Given the description of an element on the screen output the (x, y) to click on. 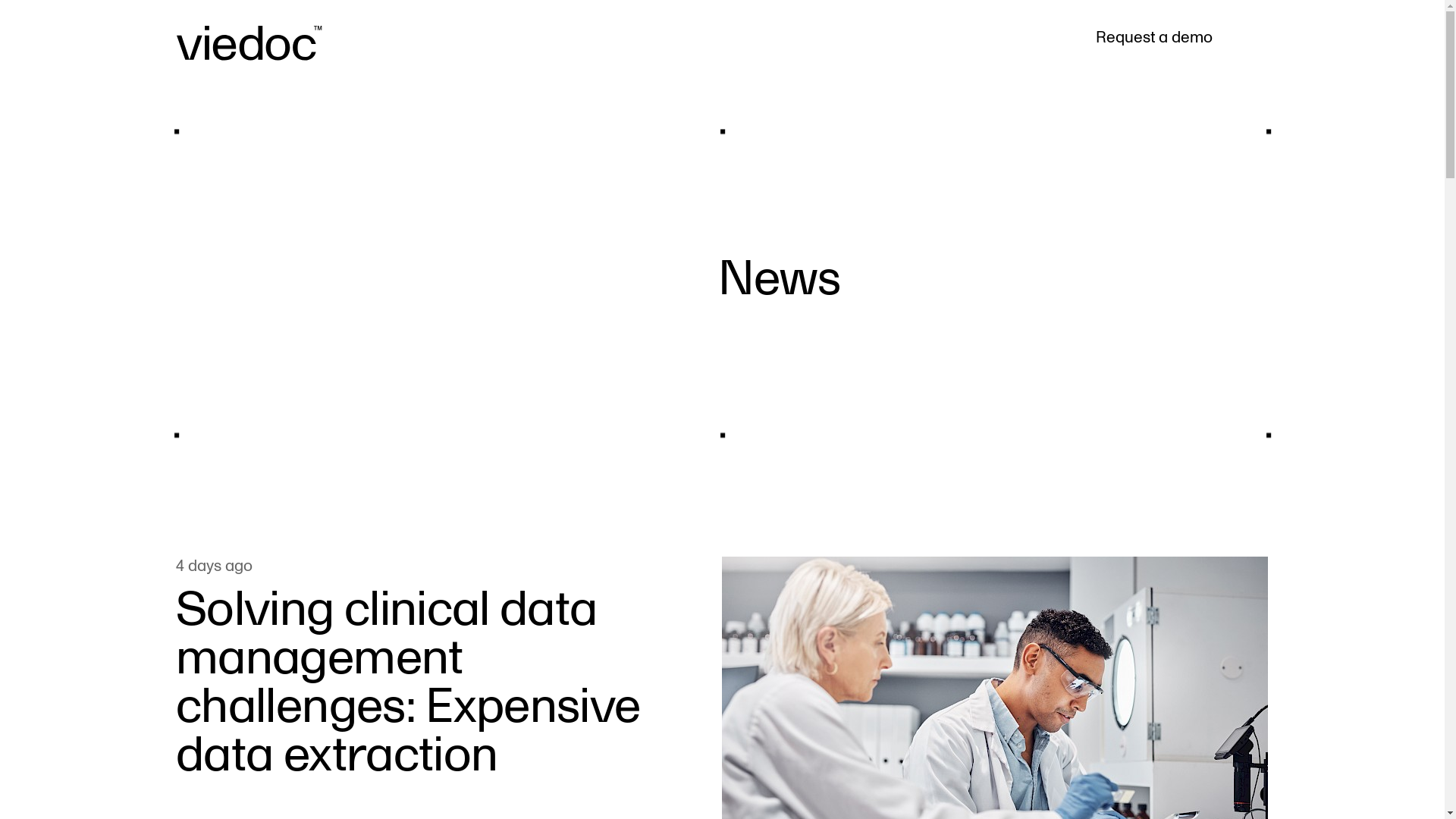
Request a demo (1152, 37)
